Given the description of an element on the screen output the (x, y) to click on. 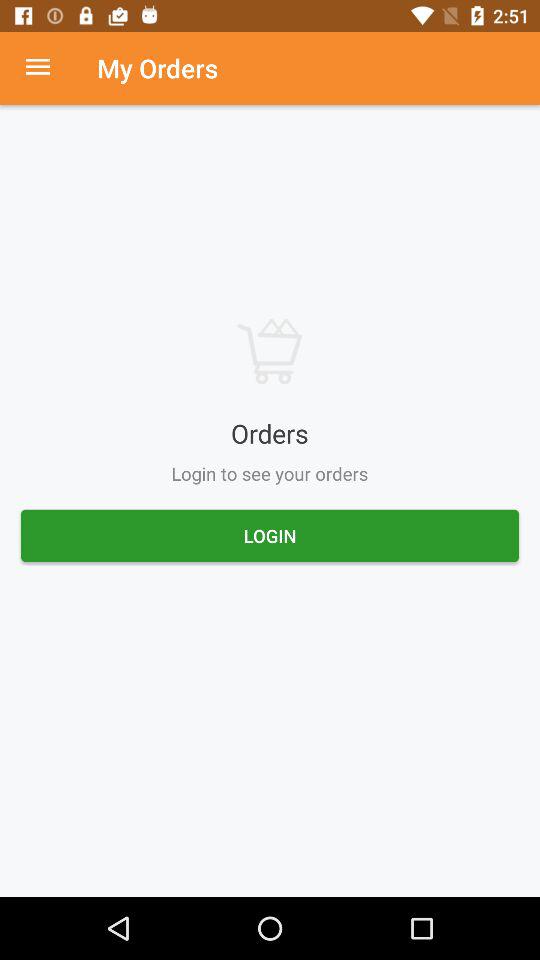
settings (48, 67)
